Given the description of an element on the screen output the (x, y) to click on. 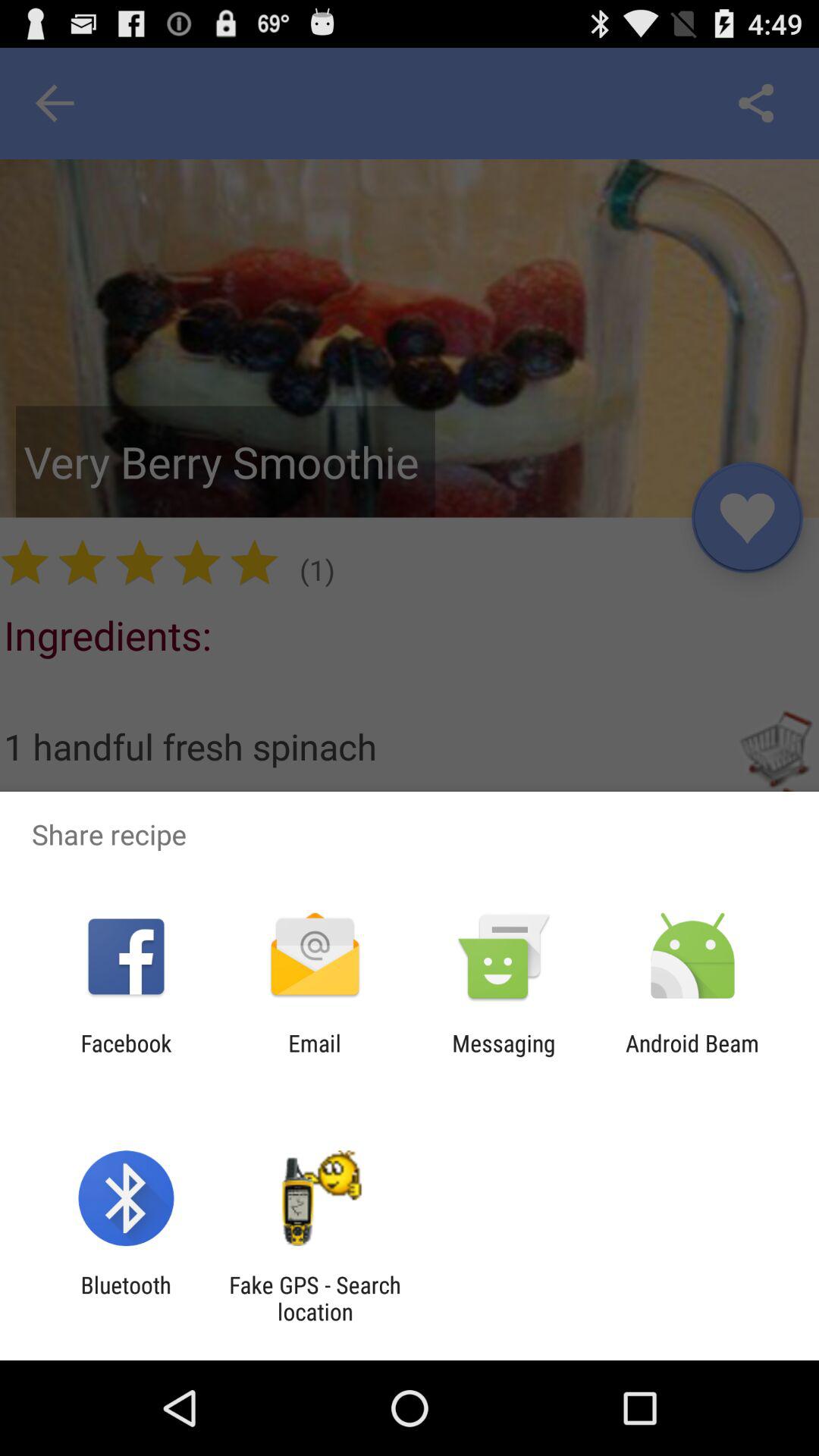
click email item (314, 1056)
